Given the description of an element on the screen output the (x, y) to click on. 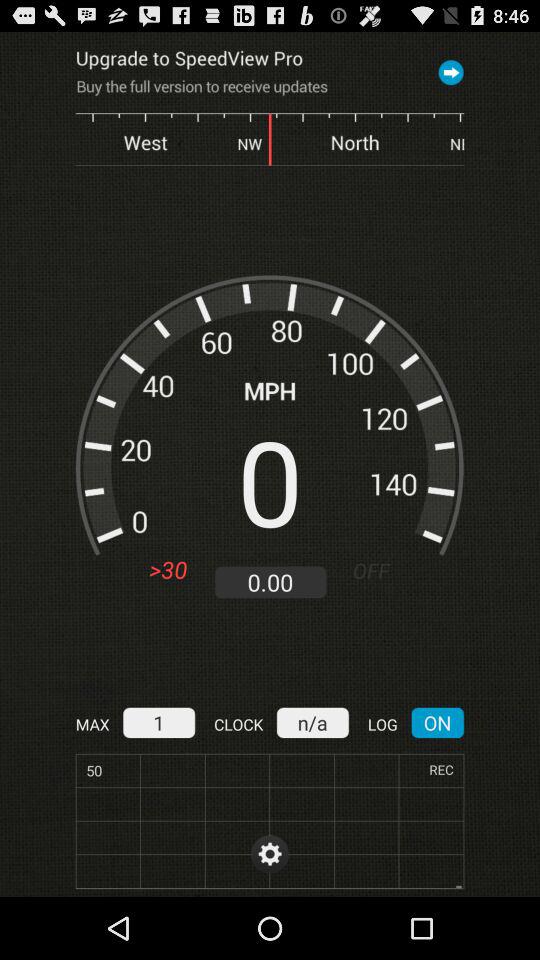
tap off on the right (378, 570)
